Given the description of an element on the screen output the (x, y) to click on. 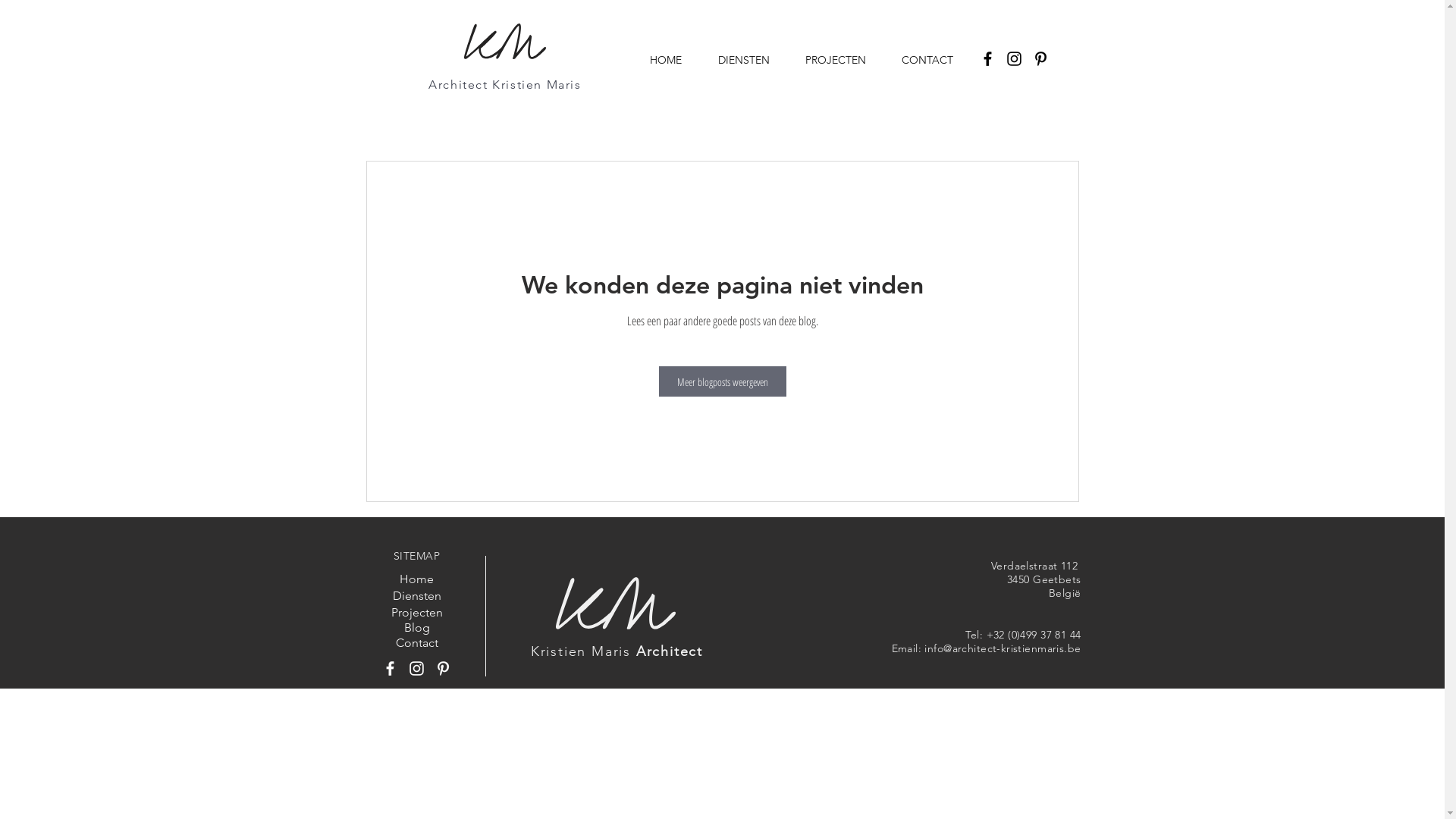
Kristien Maris Architect Element type: text (616, 651)
PROJECTEN Element type: text (841, 59)
CONTACT Element type: text (933, 59)
Meer blogposts weergeven Element type: text (721, 381)
Home Element type: text (416, 579)
HOME Element type: text (672, 59)
info@architect-kristienmaris.be Element type: text (1002, 648)
DIENSTEN Element type: text (749, 59)
Kristien Maris Element type: text (536, 84)
Diensten Element type: text (416, 595)
Blog Element type: text (416, 627)
Contact Element type: text (416, 642)
  Element type: text (490, 84)
Projecten Element type: text (416, 612)
Architect Element type: text (457, 84)
